Given the description of an element on the screen output the (x, y) to click on. 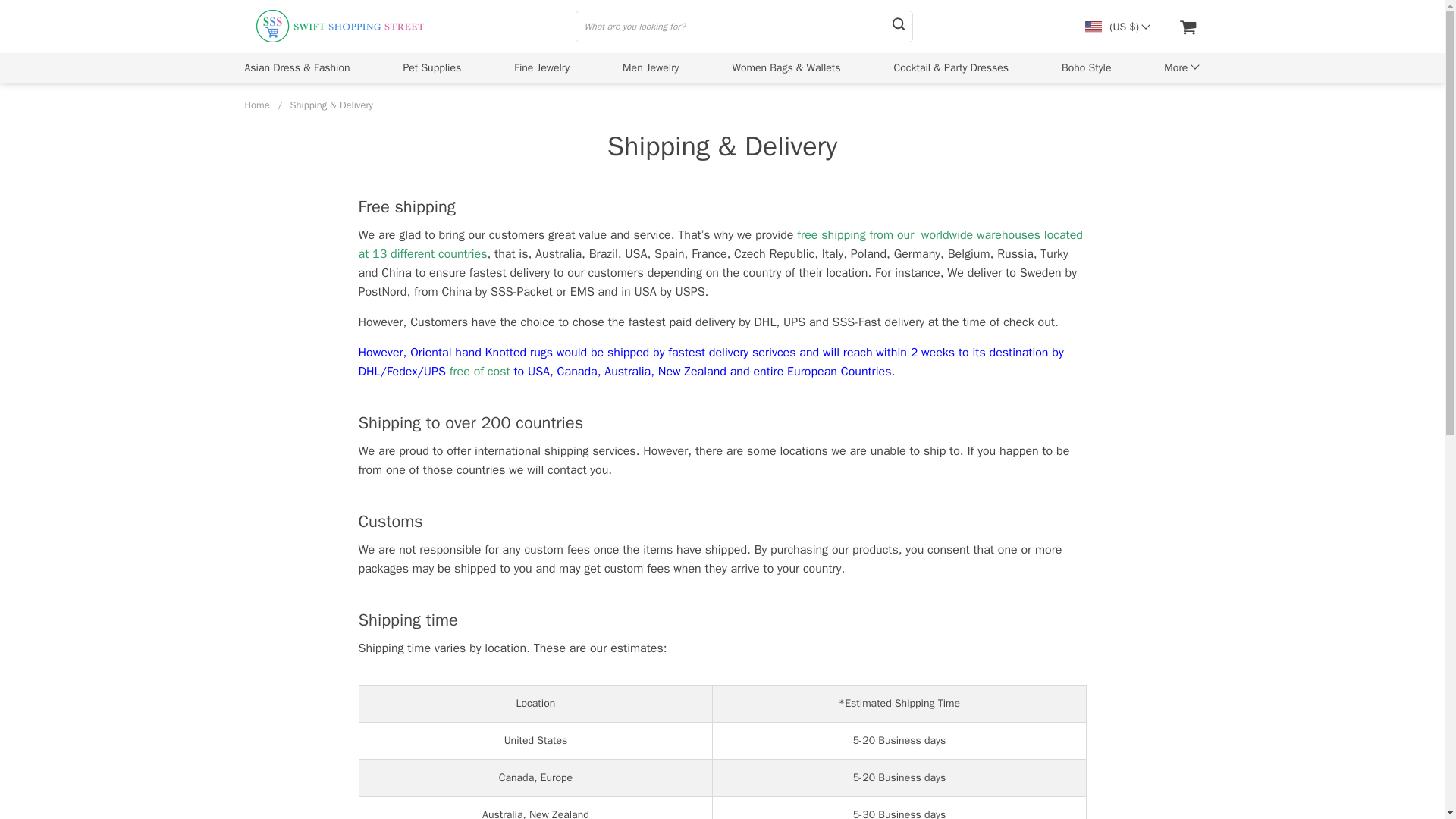
Boho Style (1085, 67)
Pet Supplies (432, 67)
Men Jewelry (650, 67)
Fine Jewelry (541, 67)
